Given the description of an element on the screen output the (x, y) to click on. 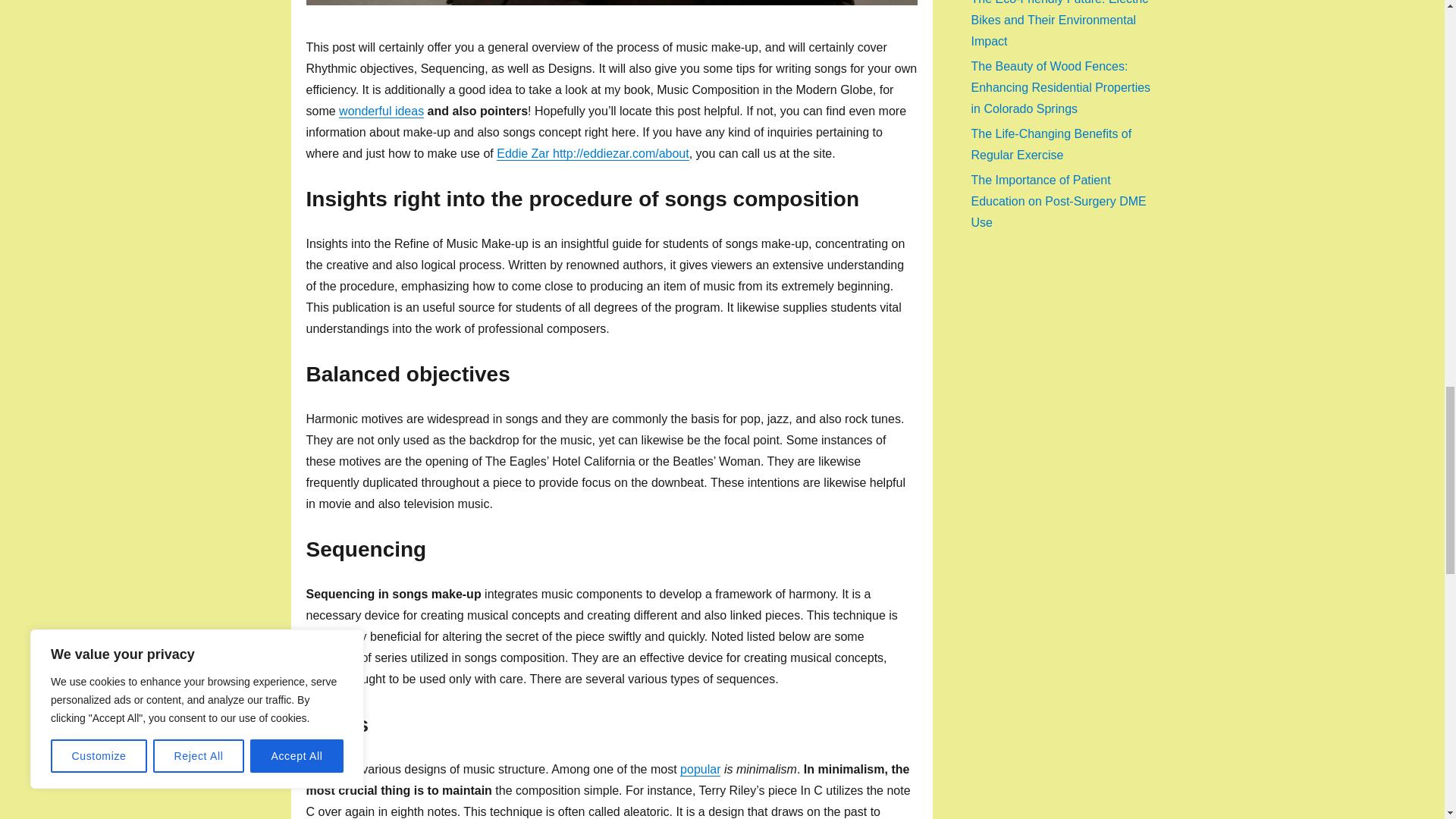
wonderful ideas (381, 110)
popular (699, 768)
